Given the description of an element on the screen output the (x, y) to click on. 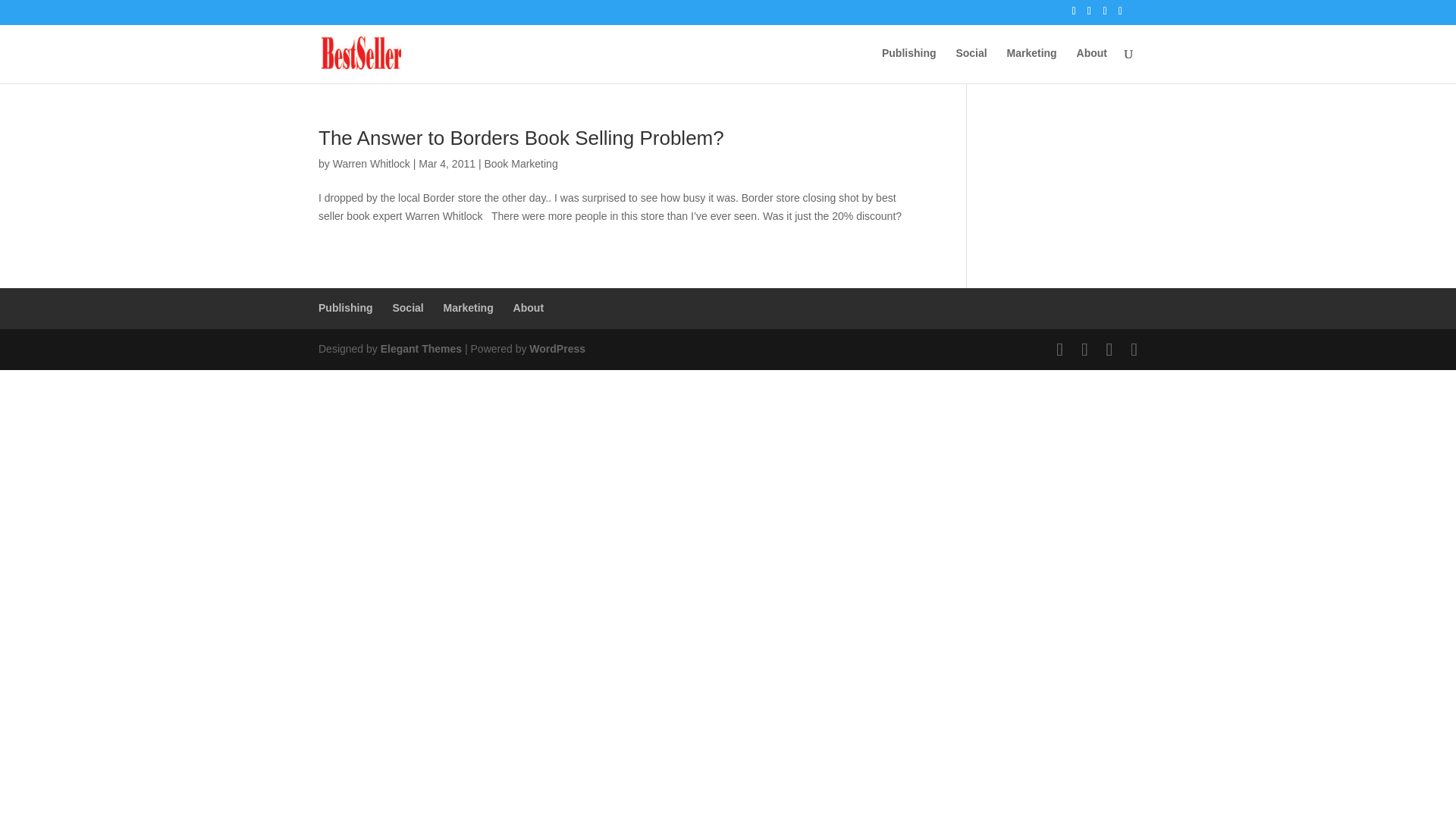
Marketing (468, 307)
Elegant Themes (420, 348)
Premium WordPress Themes (420, 348)
Book Marketing (520, 163)
The Answer to Borders Book Selling Problem? (520, 137)
Publishing (345, 307)
Social (407, 307)
Warren Whitlock (371, 163)
Marketing (1032, 65)
About (528, 307)
Posts by Warren Whitlock (371, 163)
WordPress (557, 348)
Publishing (909, 65)
